Given the description of an element on the screen output the (x, y) to click on. 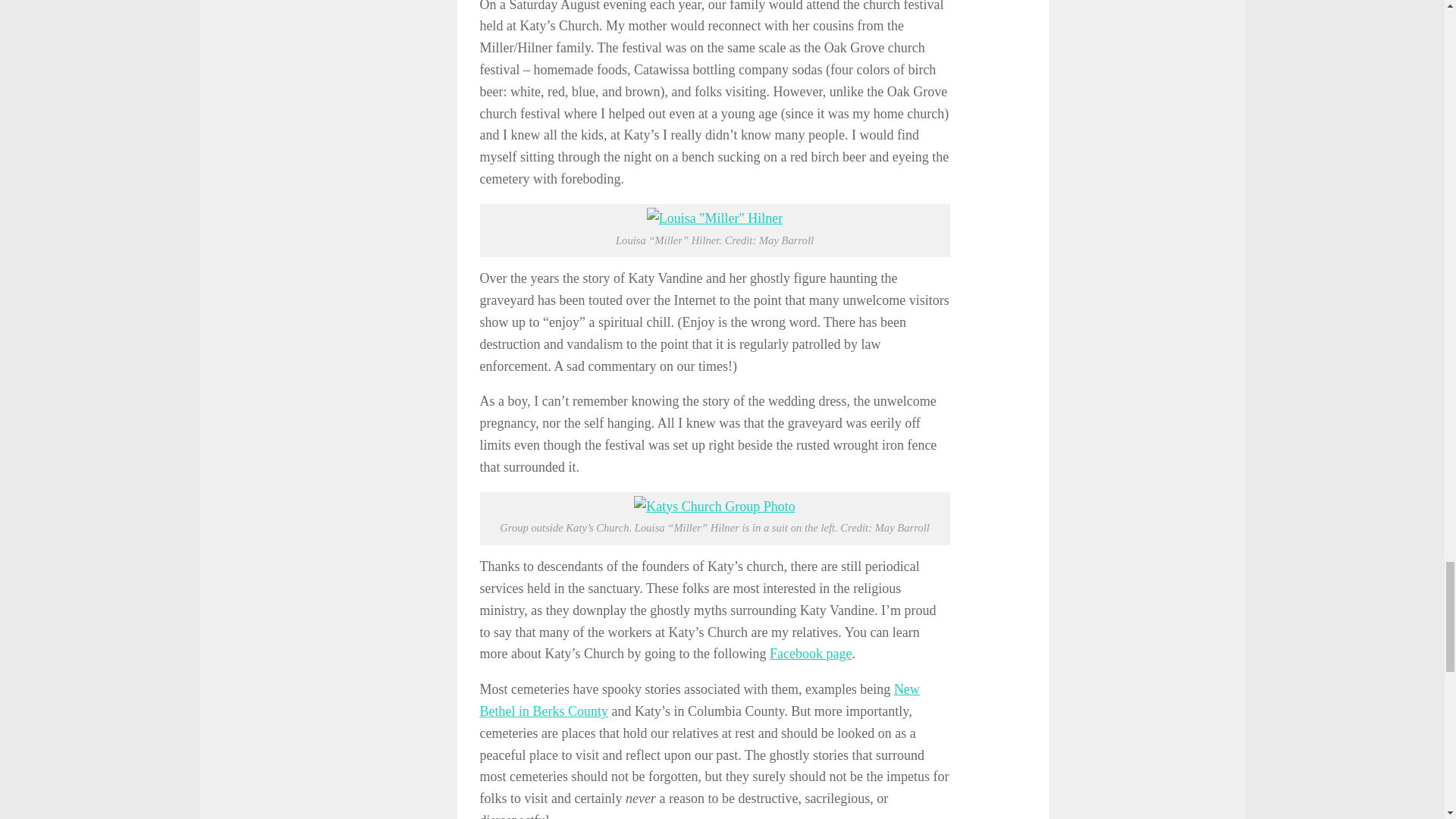
Facebook page (810, 653)
New Bethel in Berks County (698, 700)
